Given the description of an element on the screen output the (x, y) to click on. 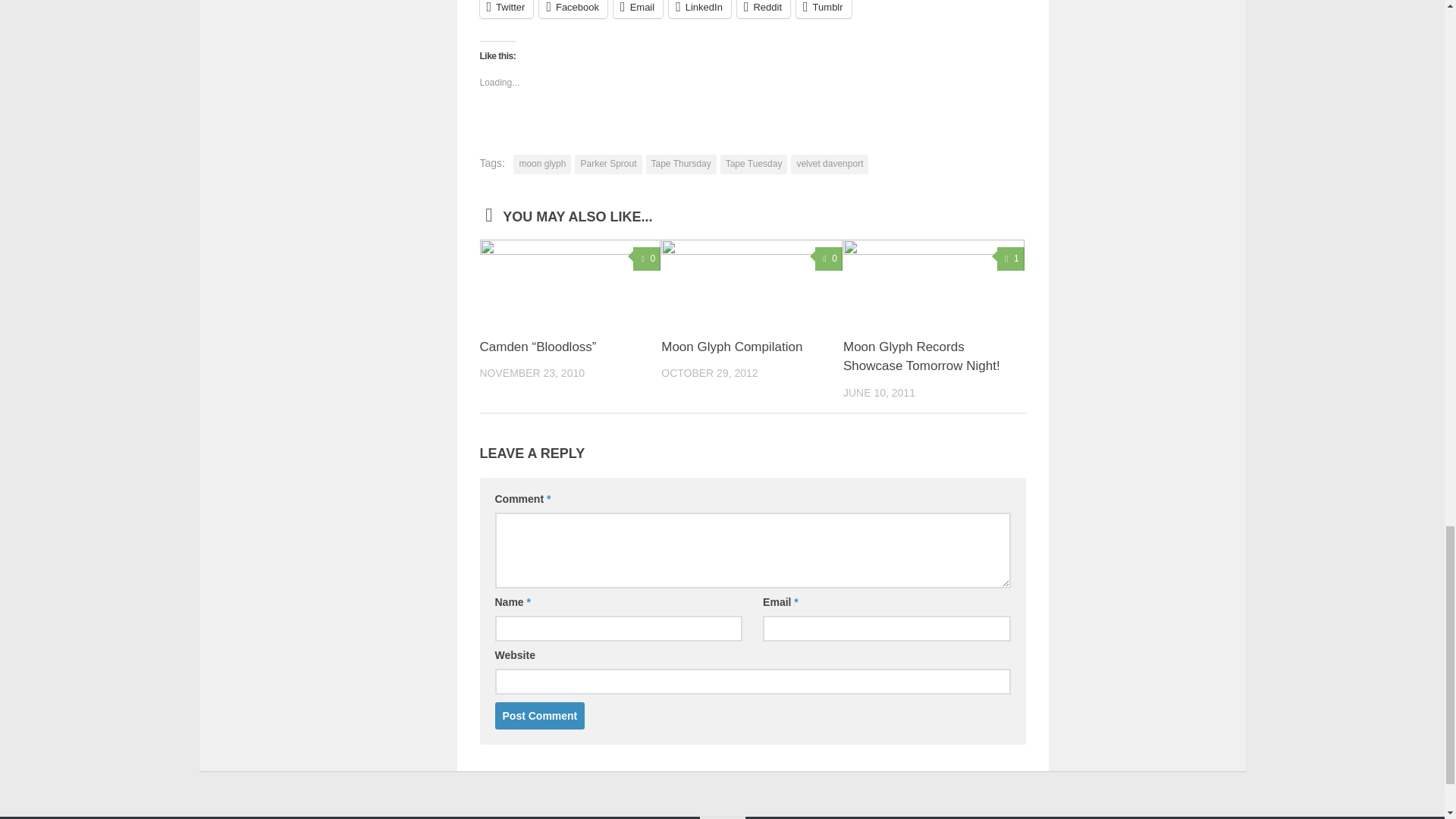
Click to share on Reddit (763, 9)
Click to share on Twitter (505, 9)
Email (637, 9)
Post Comment (540, 715)
Twitter (505, 9)
Click to share on Facebook (572, 9)
Click to share on Tumblr (823, 9)
Click to share on LinkedIn (699, 9)
Click to email a link to a friend (637, 9)
Facebook (572, 9)
